Given the description of an element on the screen output the (x, y) to click on. 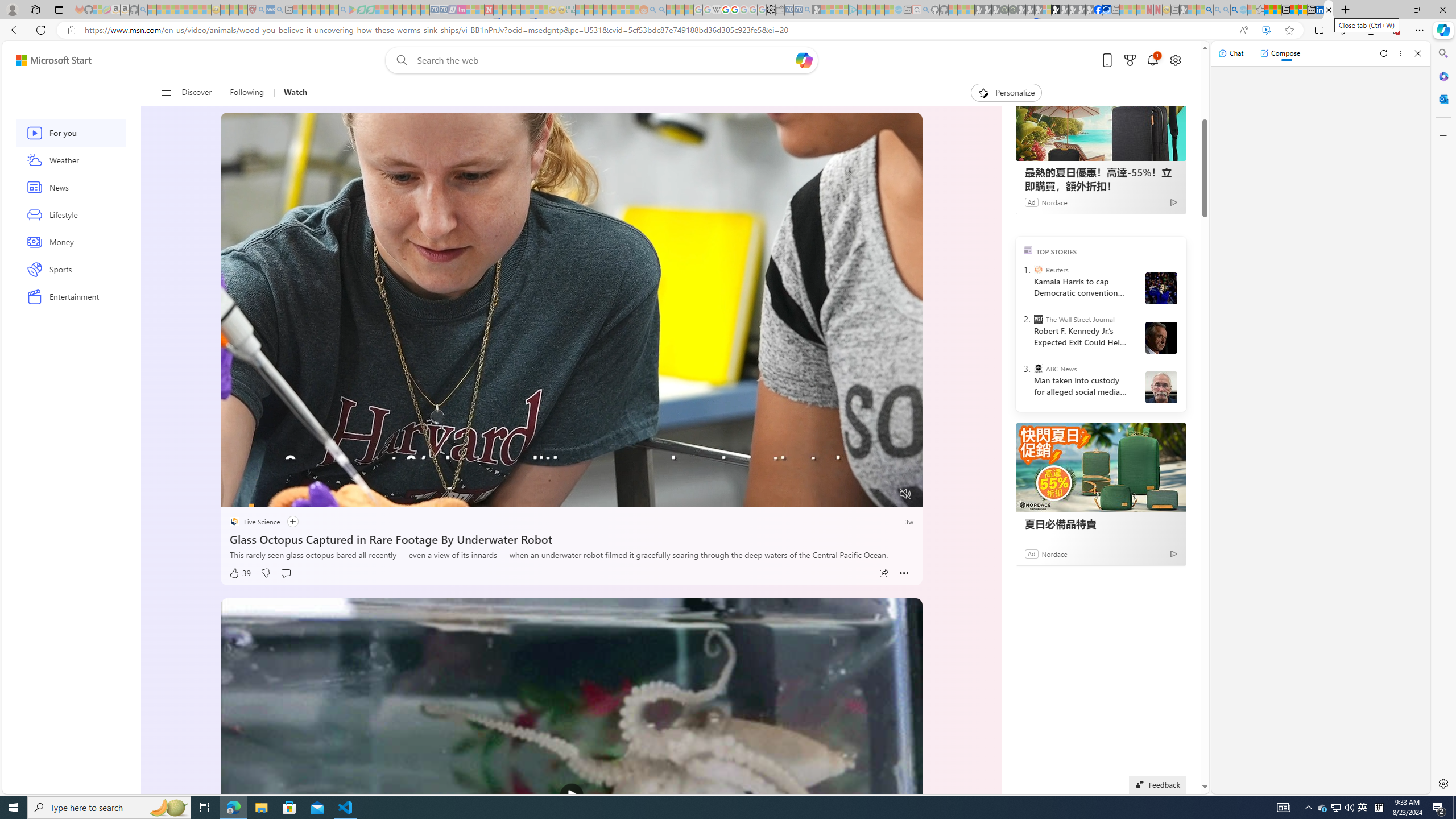
Google Chrome Internet Browser Download - Search Images (1234, 9)
Class: at-item inline-watch (903, 573)
Share (883, 573)
